Given the description of an element on the screen output the (x, y) to click on. 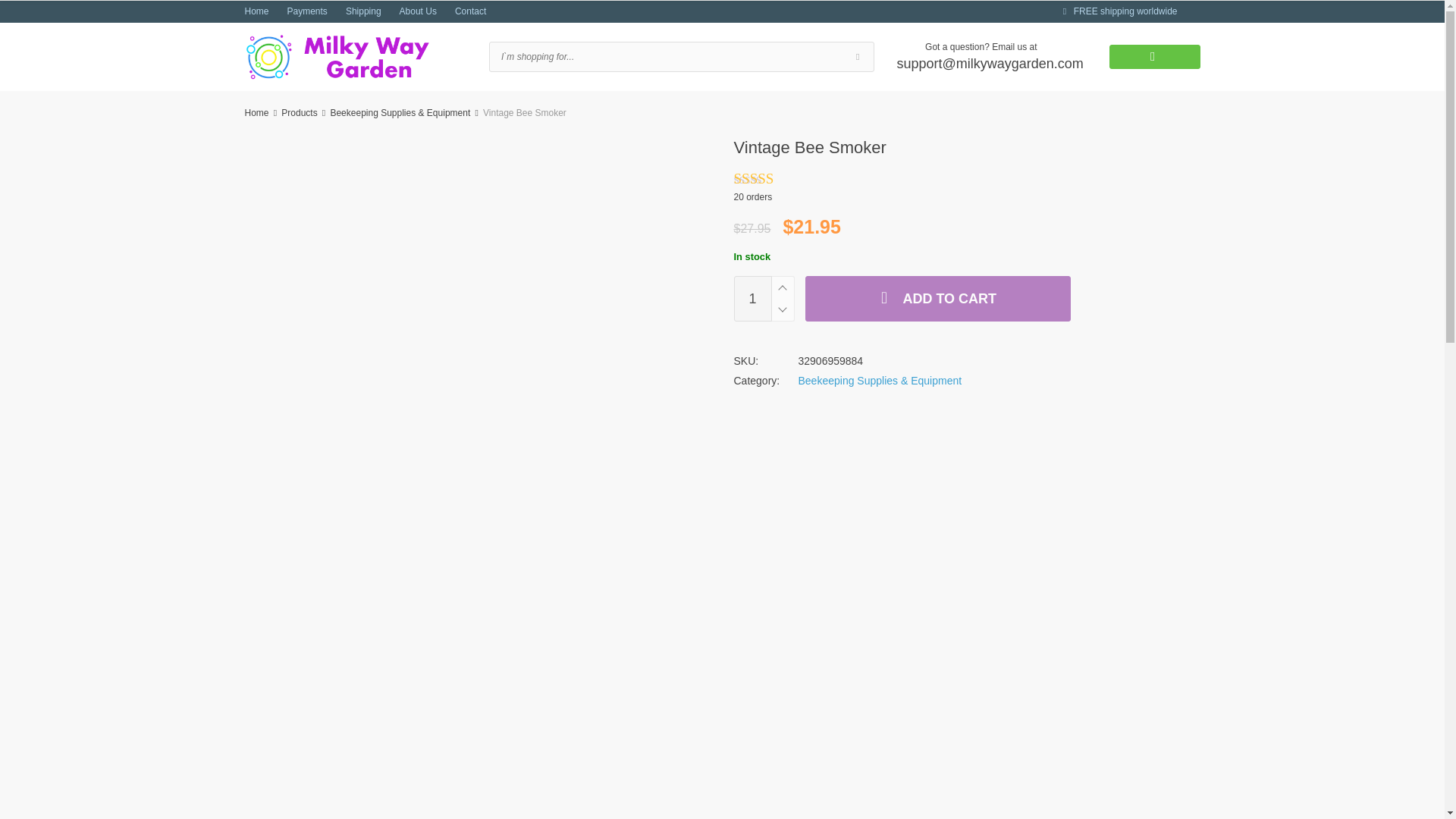
- (781, 309)
ADD TO CART (937, 298)
Products (299, 112)
Contact (470, 11)
Home (255, 11)
Payments (306, 11)
Shipping (363, 11)
Home (255, 112)
About Us (417, 11)
